Given the description of an element on the screen output the (x, y) to click on. 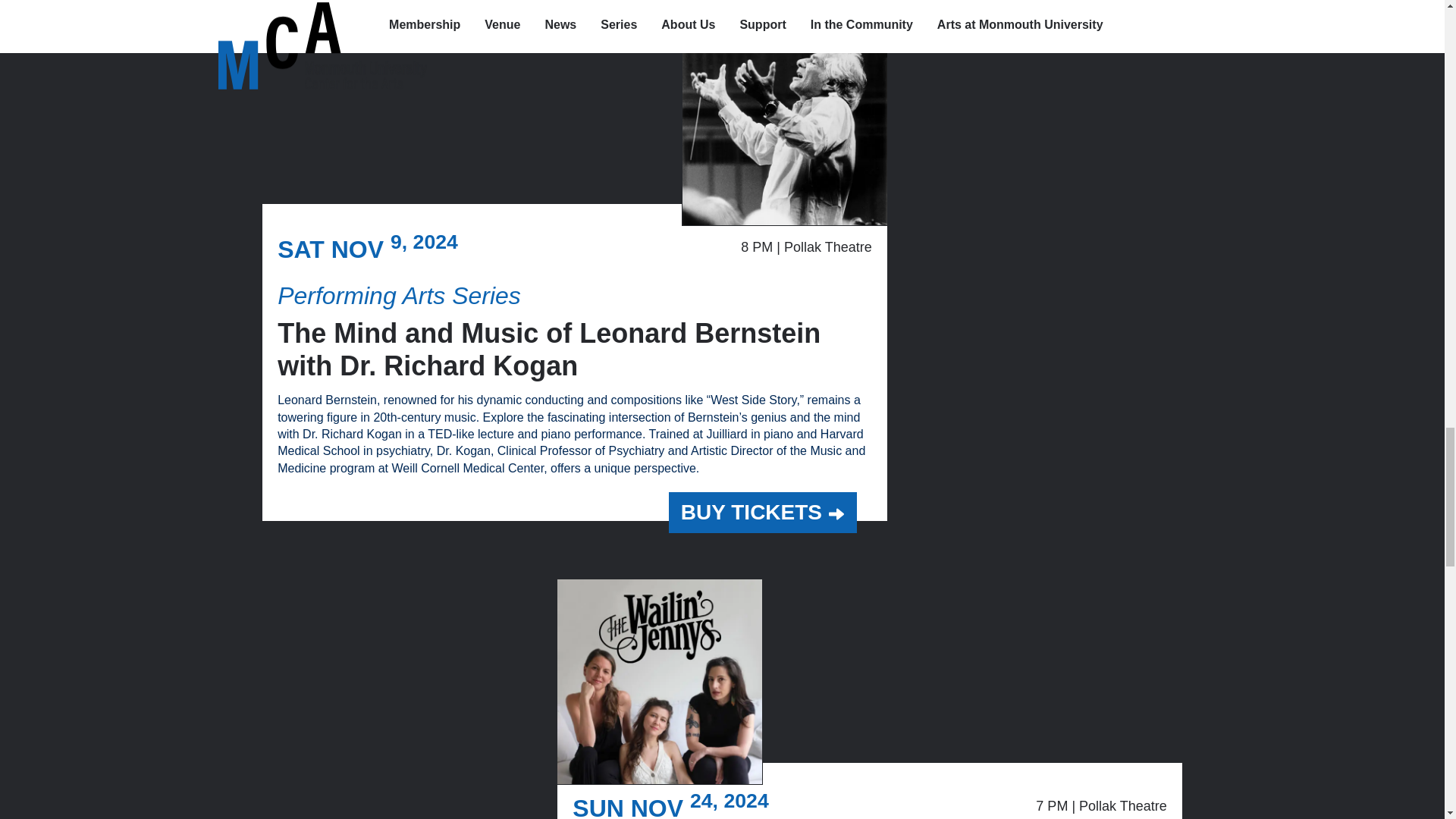
BUY TICKETS (762, 512)
